Given the description of an element on the screen output the (x, y) to click on. 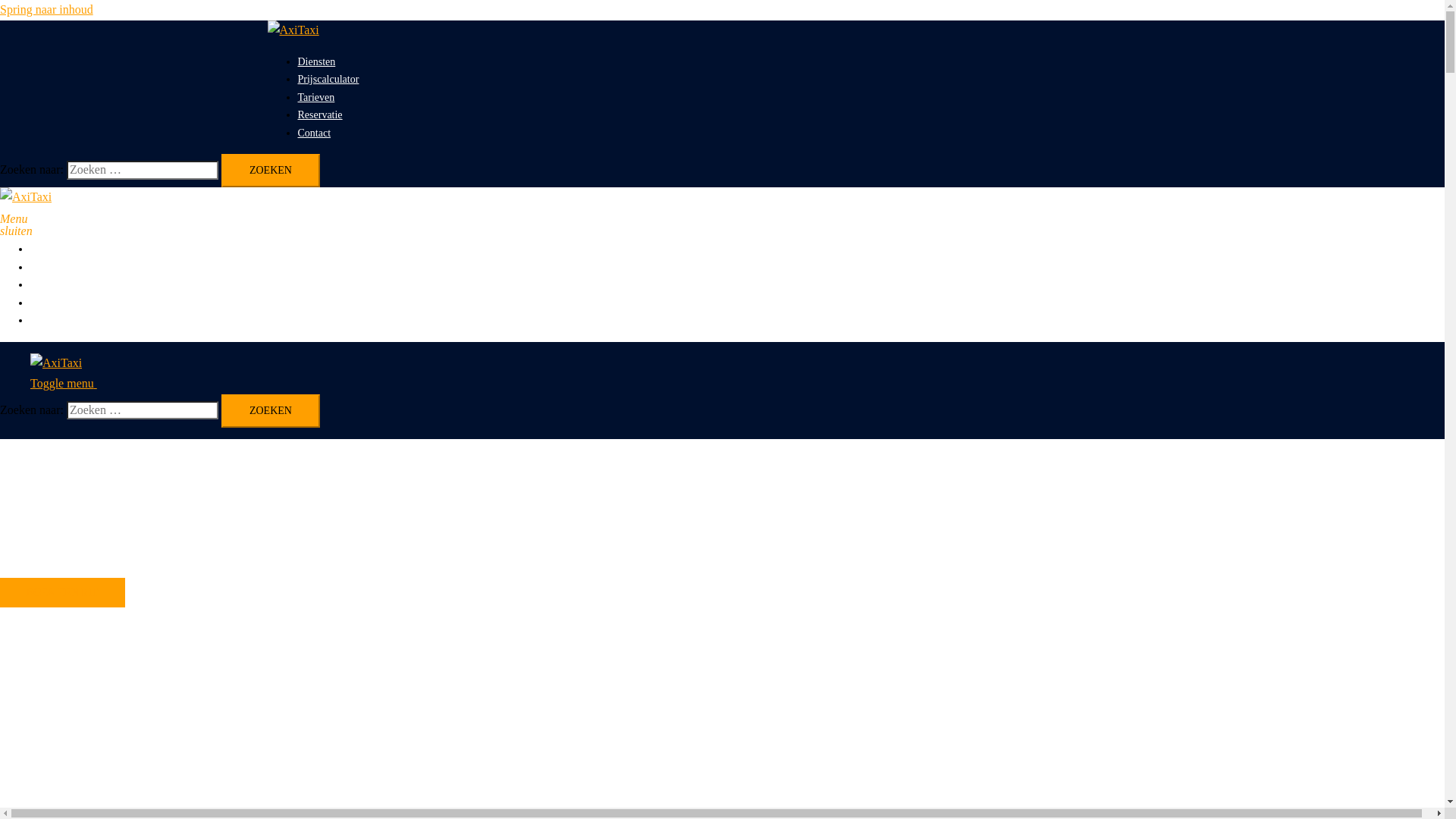
Tarieven Element type: text (48, 284)
Prijscalculator Element type: text (60, 267)
Reservatie Element type: text (52, 302)
AxiTaxi Element type: hover (55, 362)
Menu sluiten Element type: text (6, 216)
Zoeken Element type: text (270, 170)
Prijscalculator Element type: text (327, 78)
AxiTaxi Element type: hover (25, 196)
Contact Element type: text (313, 132)
Diensten Element type: text (49, 248)
Spring naar inhoud Element type: text (46, 9)
Zoeken Element type: text (270, 410)
Toggle menu Element type: text (69, 382)
BOEK EEN RIT Element type: text (62, 592)
Contact Element type: text (46, 320)
Reservatie Element type: text (319, 114)
Tarieven Element type: text (315, 97)
AxiTaxi Element type: hover (292, 29)
Diensten Element type: text (316, 61)
